Given the description of an element on the screen output the (x, y) to click on. 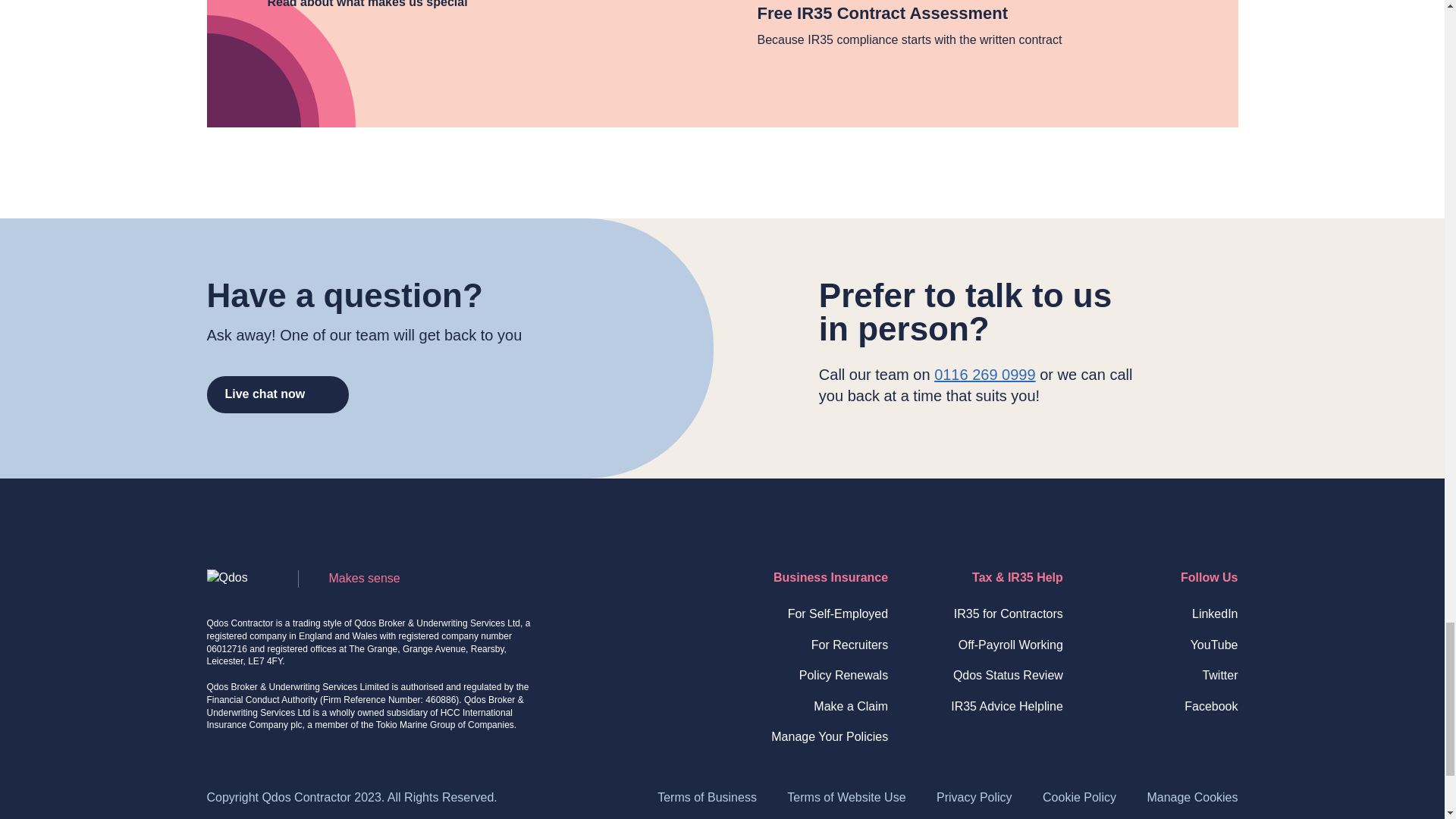
Call 0116 269 0999 (984, 374)
Privacy Policy (973, 797)
Terms of Business (707, 797)
Cookie Policy (1079, 797)
Terms of Website Use (846, 797)
